Given the description of an element on the screen output the (x, y) to click on. 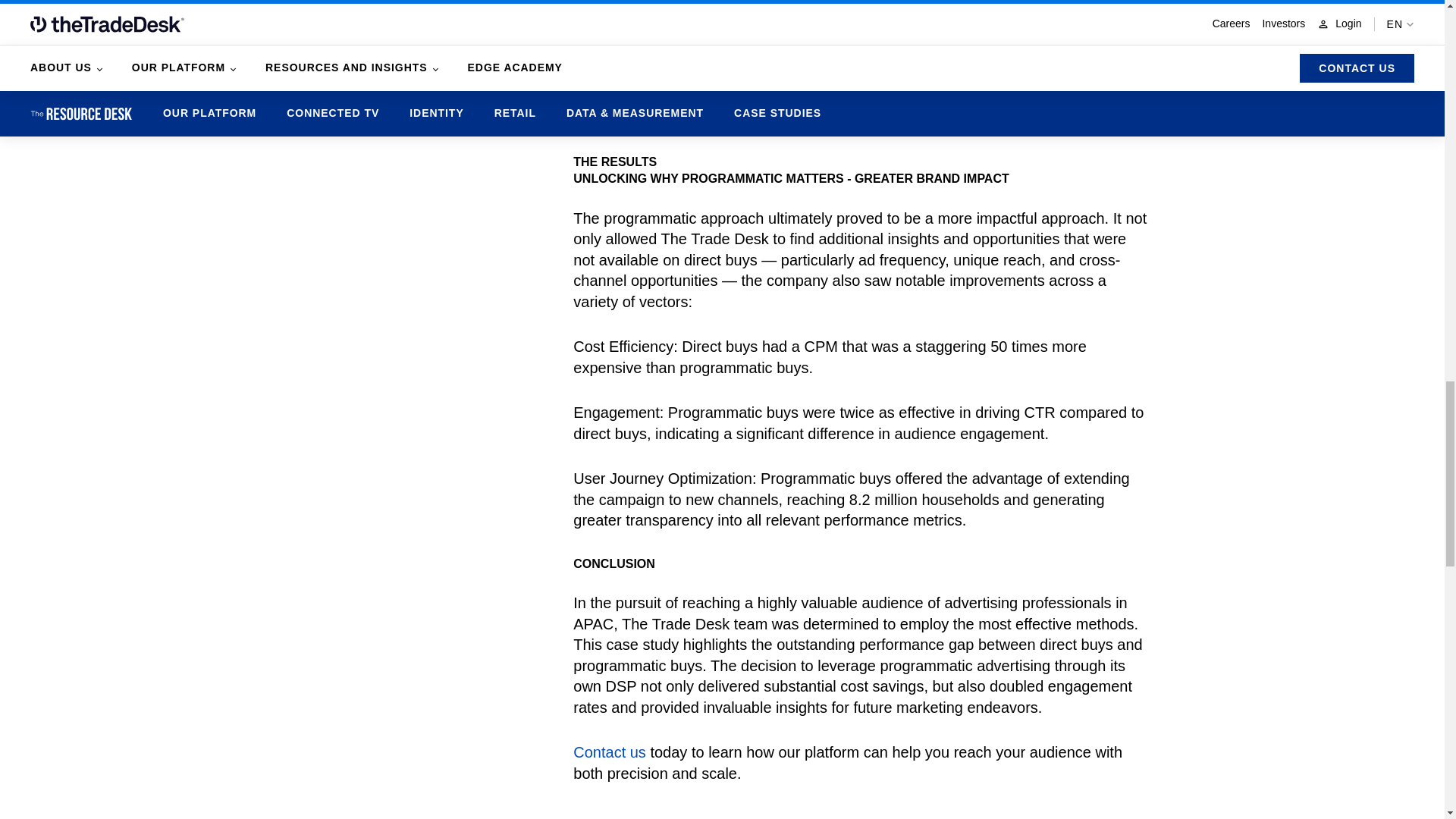
Reckitt boosts fan base and sales with omnichannel campaign (394, 6)
Contact us (609, 751)
